Given the description of an element on the screen output the (x, y) to click on. 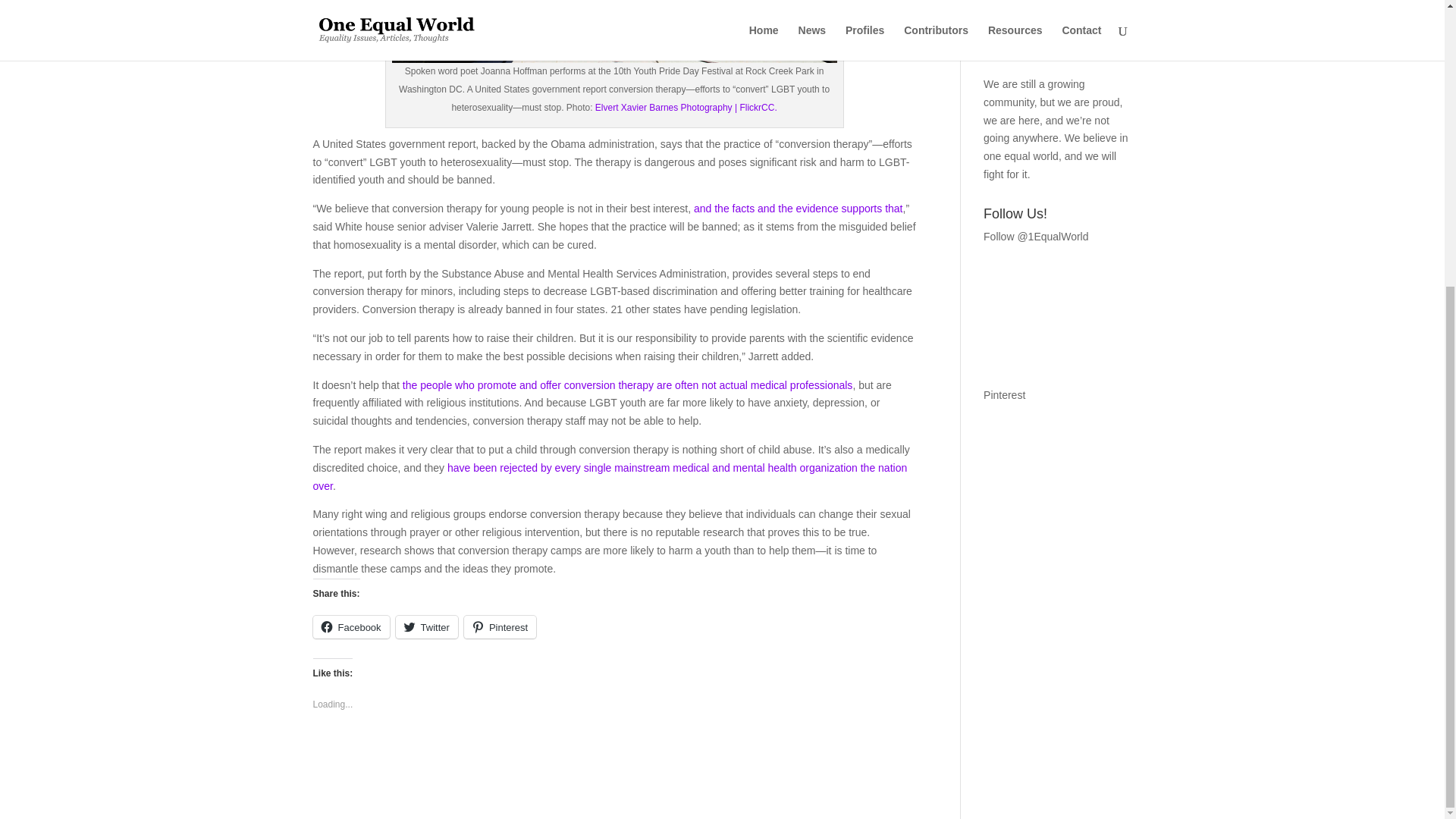
Click to share on Facebook (350, 626)
and the facts and the evidence supports that (798, 208)
Click to share on Twitter (427, 626)
Facebook (350, 626)
Pinterest (499, 626)
Pinterest (1004, 395)
Twitter (427, 626)
Click to share on Pinterest (499, 626)
